Given the description of an element on the screen output the (x, y) to click on. 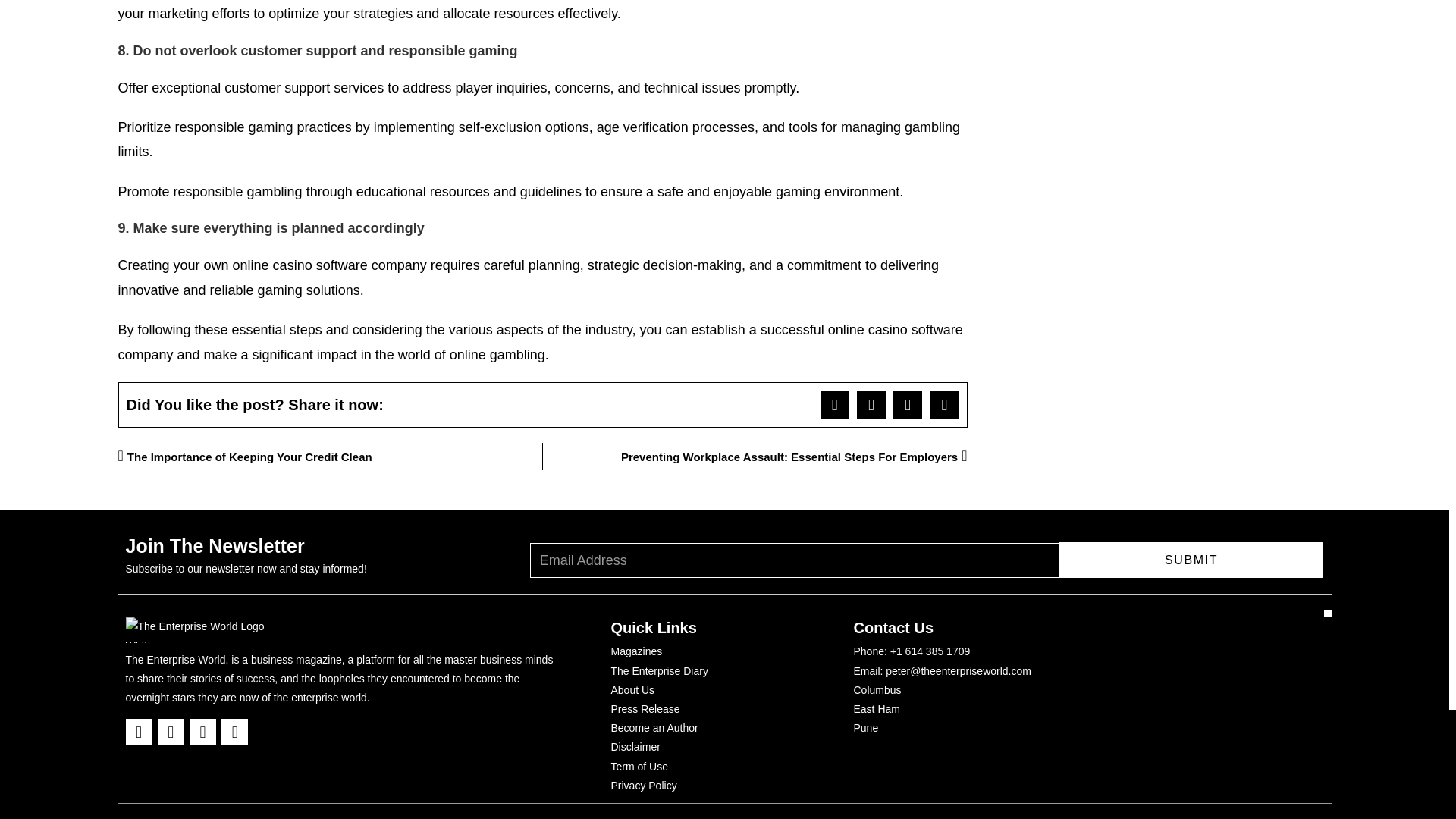
The Importance of Keeping Your Credit Clean  (330, 456)
Preventing Workplace Assault: Essential Steps For Employers (755, 456)
Press Release (645, 709)
About Us (633, 690)
The Enterprise Diary (659, 670)
Magazines (636, 651)
SUBMIT (1191, 560)
